Given the description of an element on the screen output the (x, y) to click on. 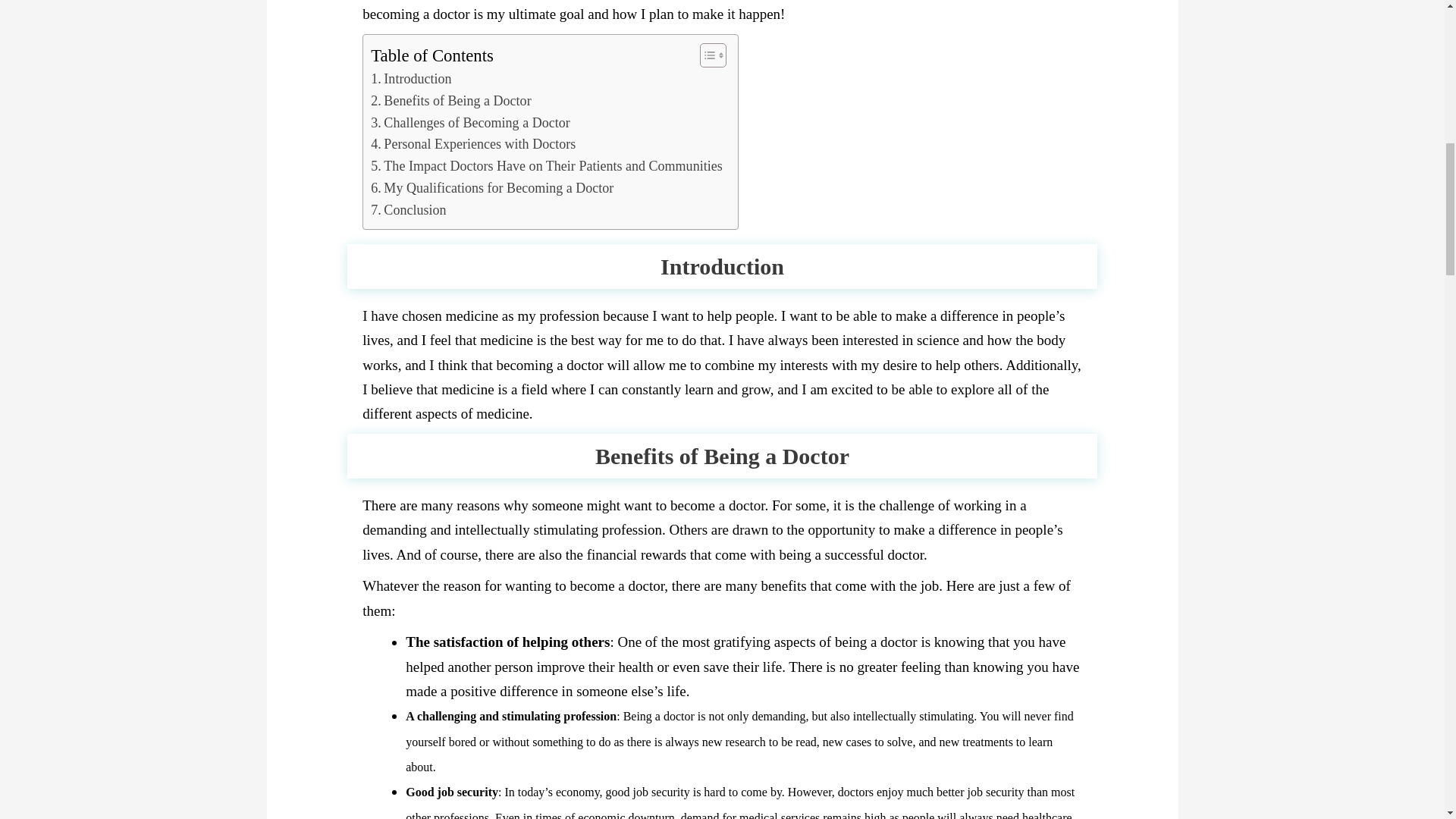
My Qualifications for Becoming a Doctor (491, 188)
Benefits of Being a Doctor (451, 101)
Conclusion (408, 210)
Personal Experiences with Doctors (473, 144)
Introduction (411, 78)
My Qualifications for Becoming a Doctor (491, 188)
Challenges of Becoming a Doctor (470, 123)
Challenges of Becoming a Doctor (470, 123)
Personal Experiences with Doctors (473, 144)
Conclusion (408, 210)
The Impact Doctors Have on Their Patients and Communities (546, 166)
Introduction (411, 78)
The Impact Doctors Have on Their Patients and Communities (546, 166)
Benefits of Being a Doctor (451, 101)
